Given the description of an element on the screen output the (x, y) to click on. 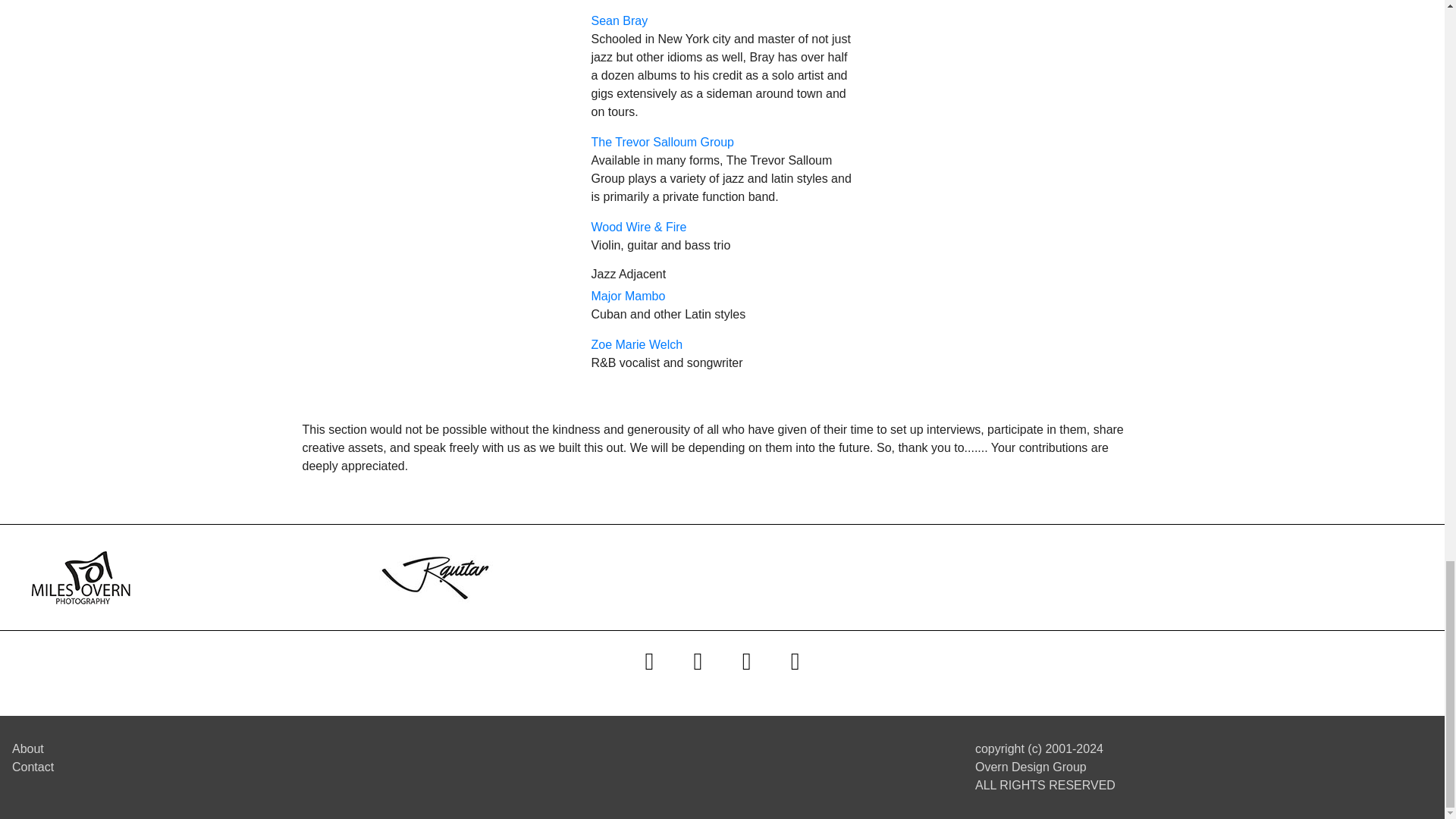
Contact eiKelowna (32, 766)
Sean Bray (619, 20)
About eiKelowna (27, 748)
